Given the description of an element on the screen output the (x, y) to click on. 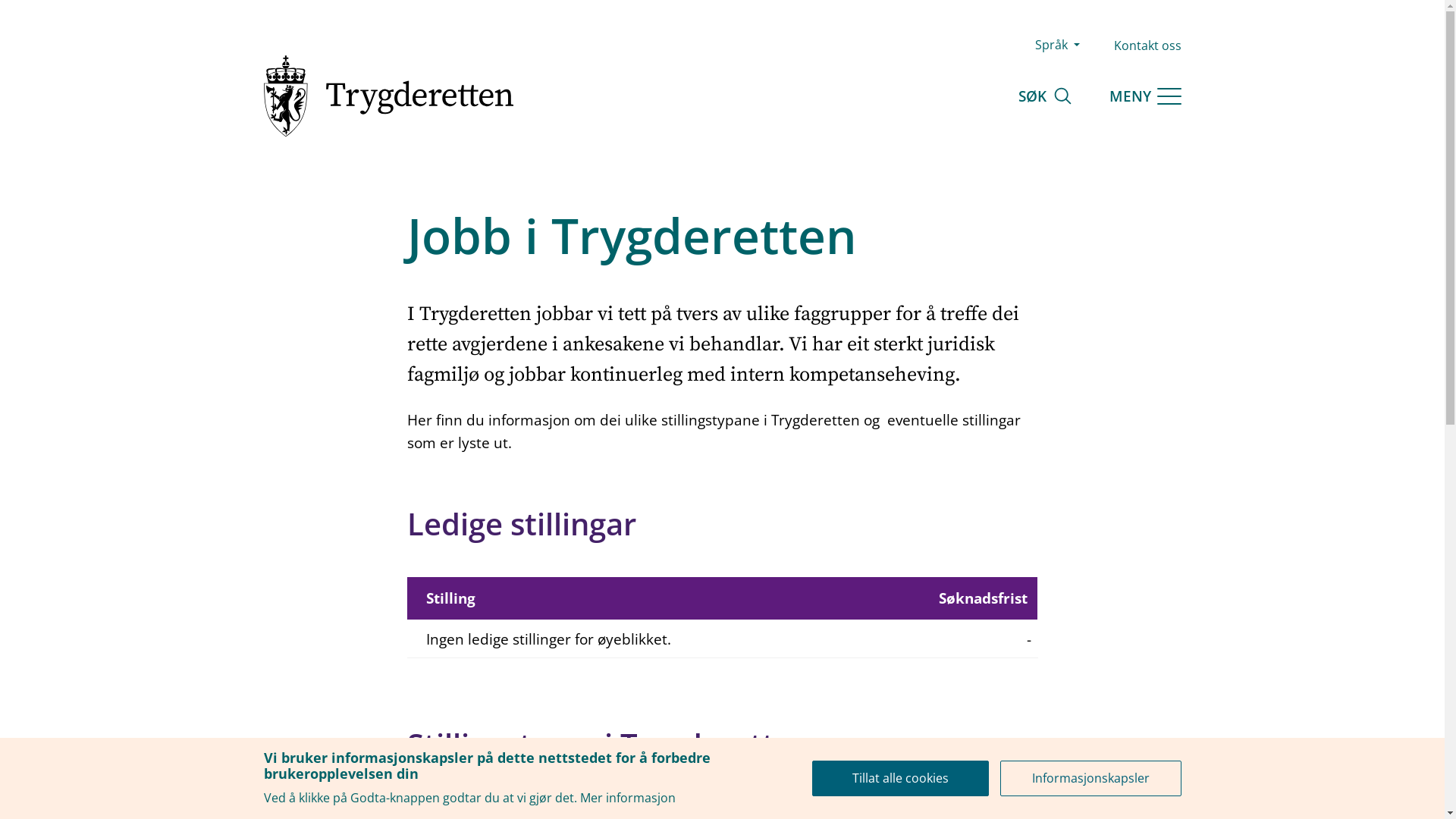
Mer informasjon Element type: text (626, 797)
Tillat alle cookies Element type: text (900, 778)
Informasjonskapsler Element type: text (1090, 778)
MENY
Toggle navigation Element type: text (1144, 95)
Kontakt oss Element type: text (1146, 45)
Hopp til hovedinnhold Element type: text (0, 0)
